Given the description of an element on the screen output the (x, y) to click on. 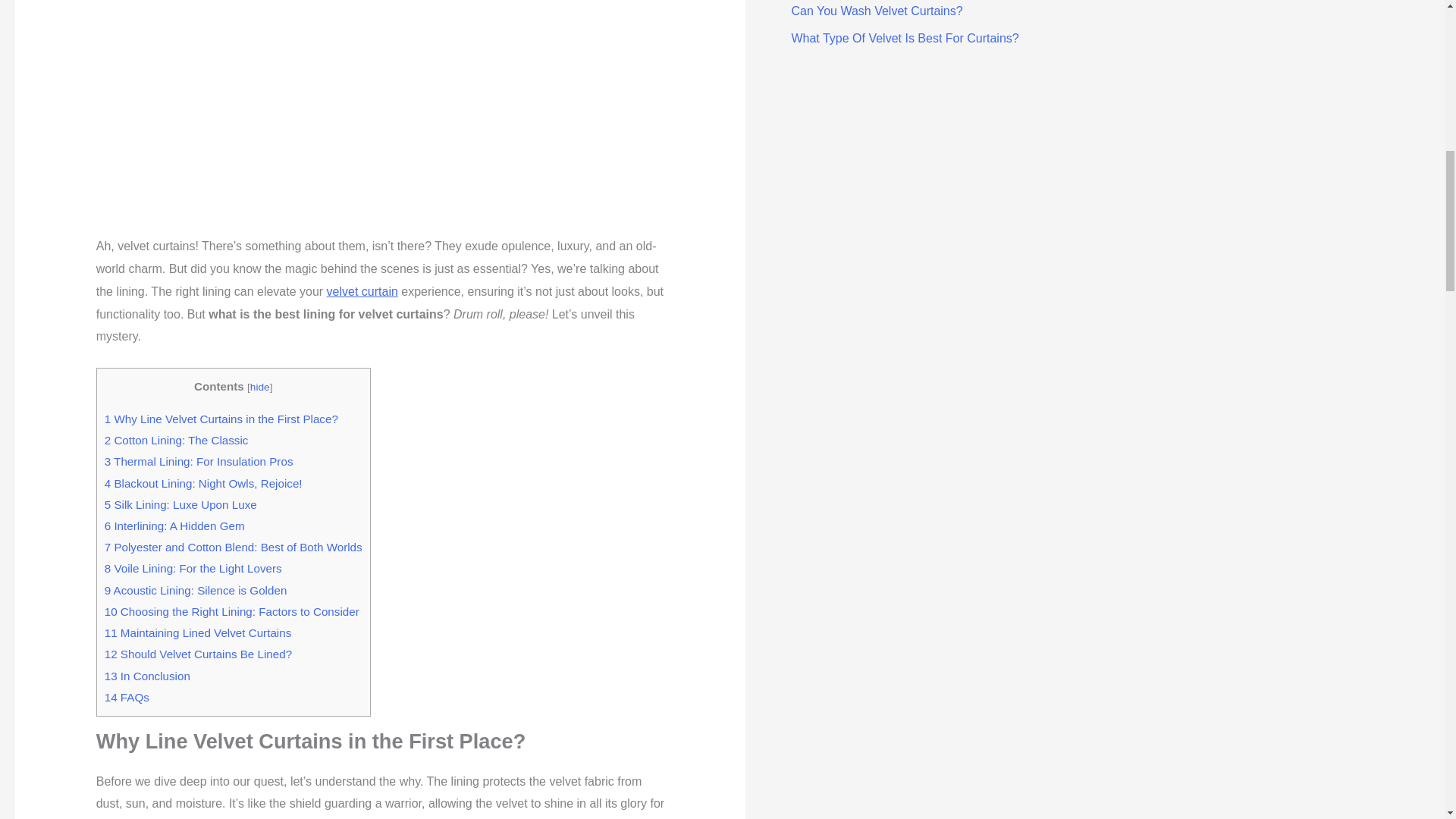
Advertisement (380, 122)
